Given the description of an element on the screen output the (x, y) to click on. 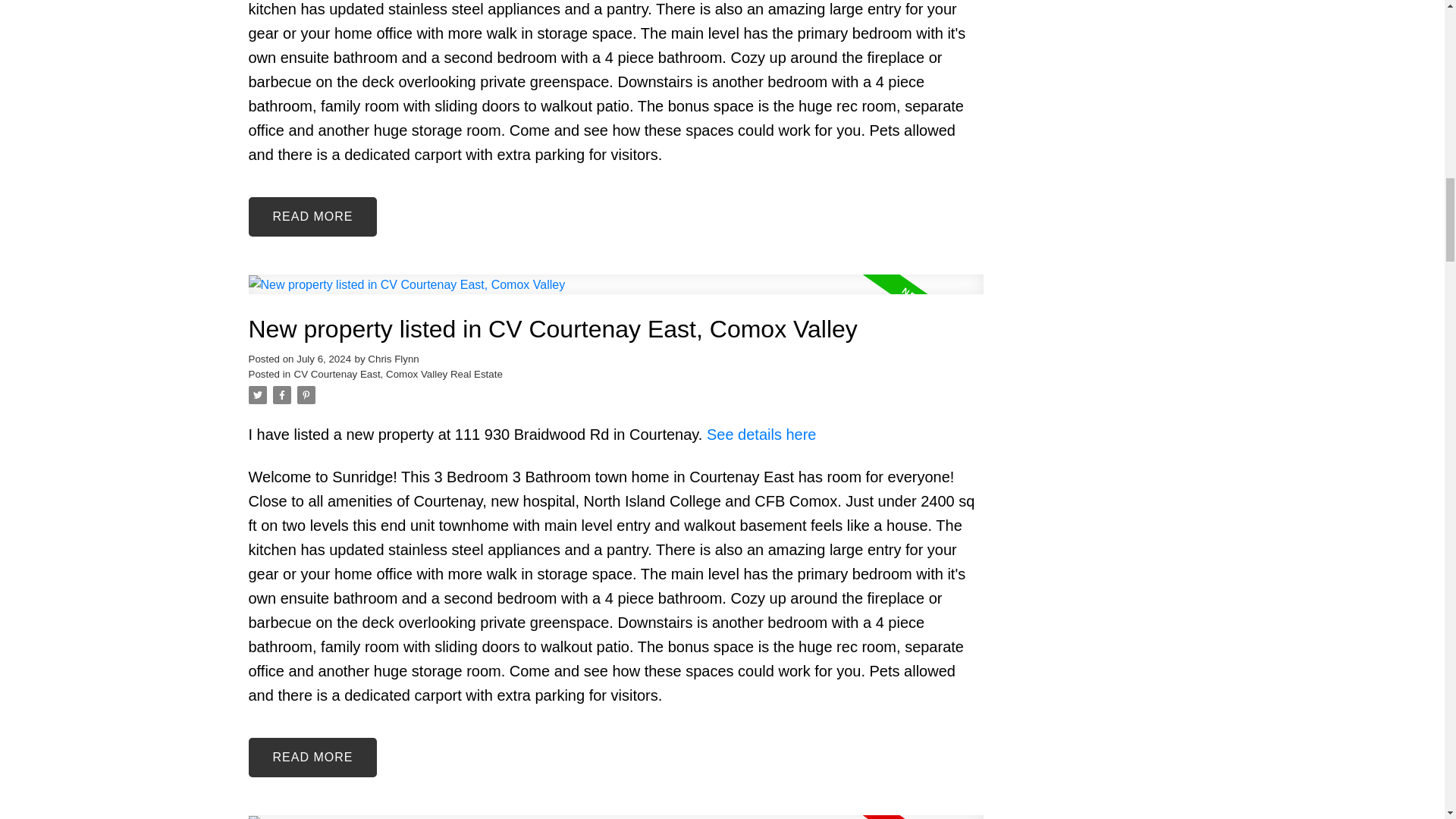
Read full post (616, 293)
